Given the description of an element on the screen output the (x, y) to click on. 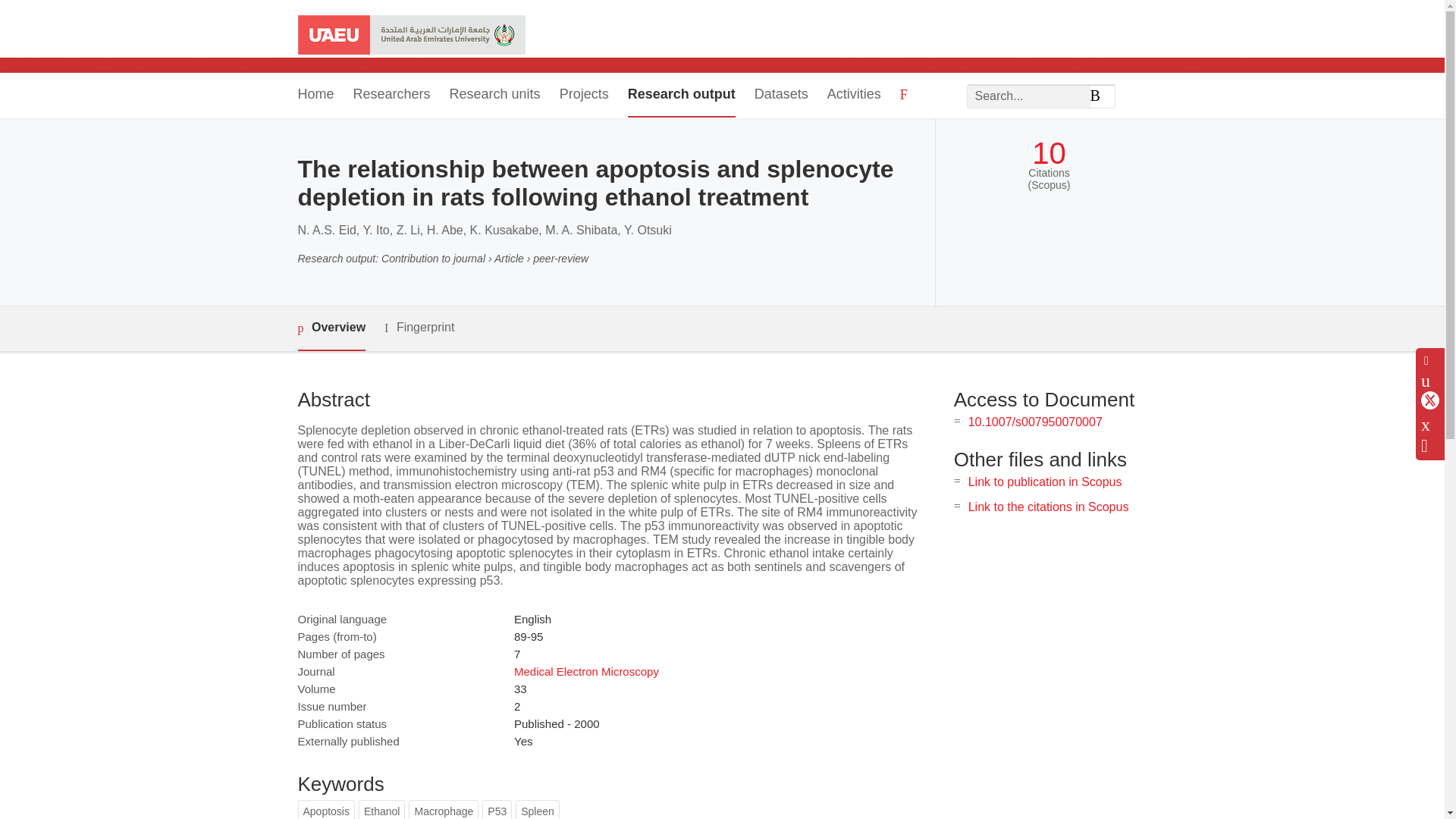
Datasets (781, 94)
United Arab Emirates University Home (410, 36)
Fingerprint (419, 327)
Link to publication in Scopus (1045, 481)
Researchers (391, 94)
Research units (494, 94)
10 (1048, 153)
Research output (681, 94)
Link to the citations in Scopus (1048, 506)
